Given the description of an element on the screen output the (x, y) to click on. 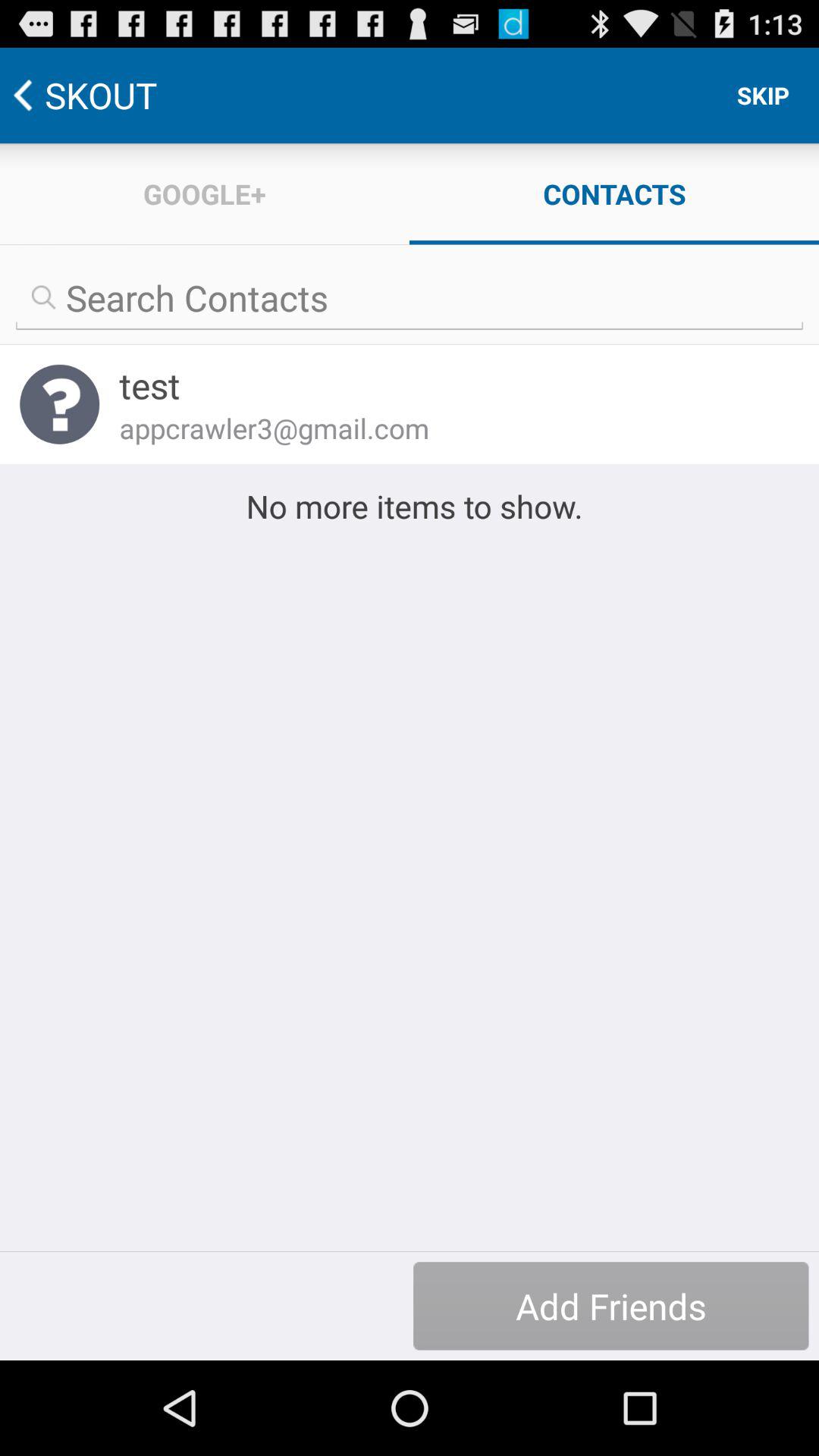
click the item to the right of the google+ item (763, 95)
